Given the description of an element on the screen output the (x, y) to click on. 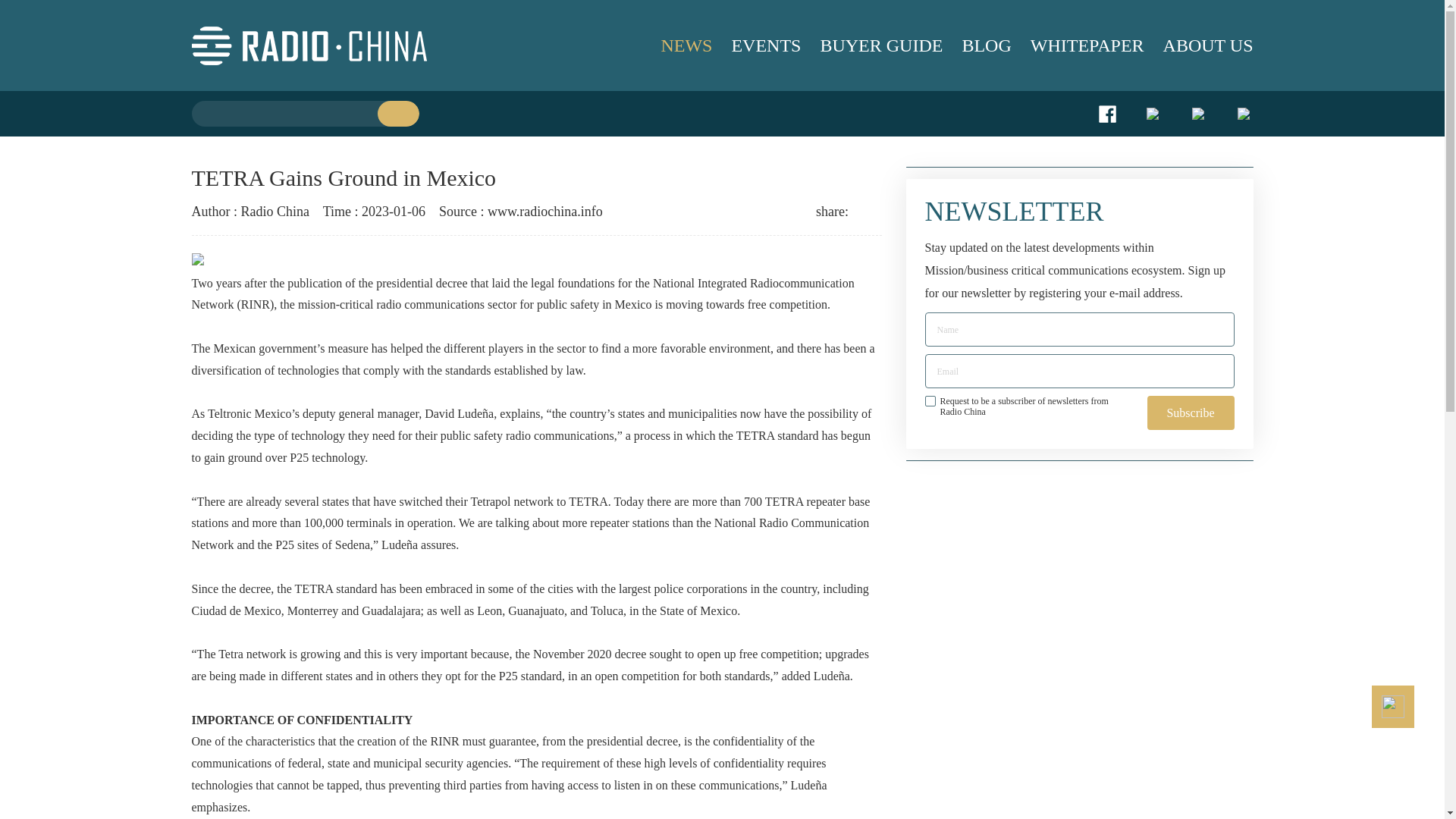
Subscribe (1190, 412)
WHITEPAPER (1077, 45)
EVENTS (755, 45)
BUYER GUIDE (871, 45)
ABOUT US (1198, 45)
www.radiochina.info (544, 211)
Subscribe (1190, 412)
